Given the description of an element on the screen output the (x, y) to click on. 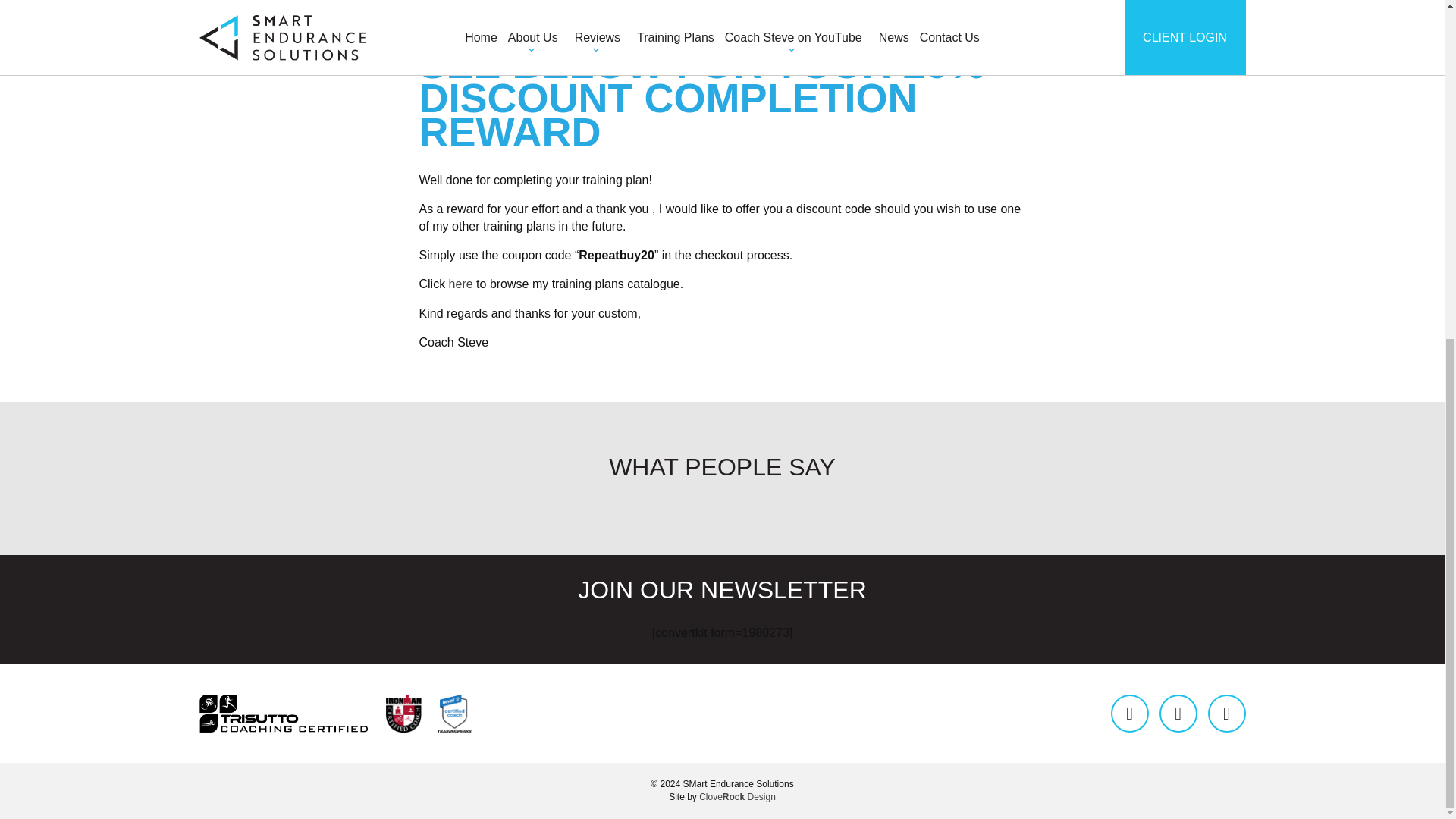
here (460, 283)
CloveRock Design (737, 796)
